Given the description of an element on the screen output the (x, y) to click on. 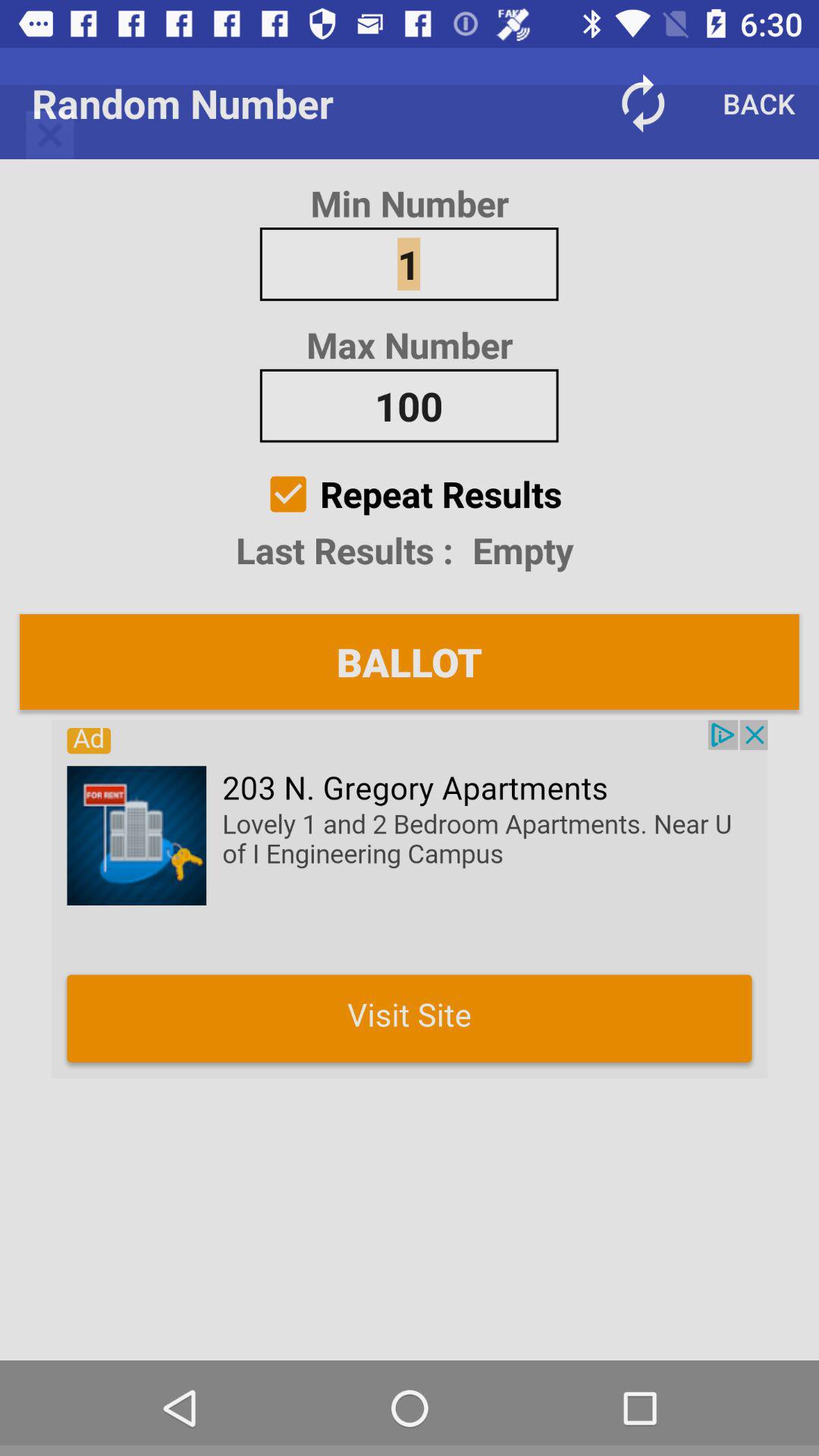
to go cease (409, 899)
